Given the description of an element on the screen output the (x, y) to click on. 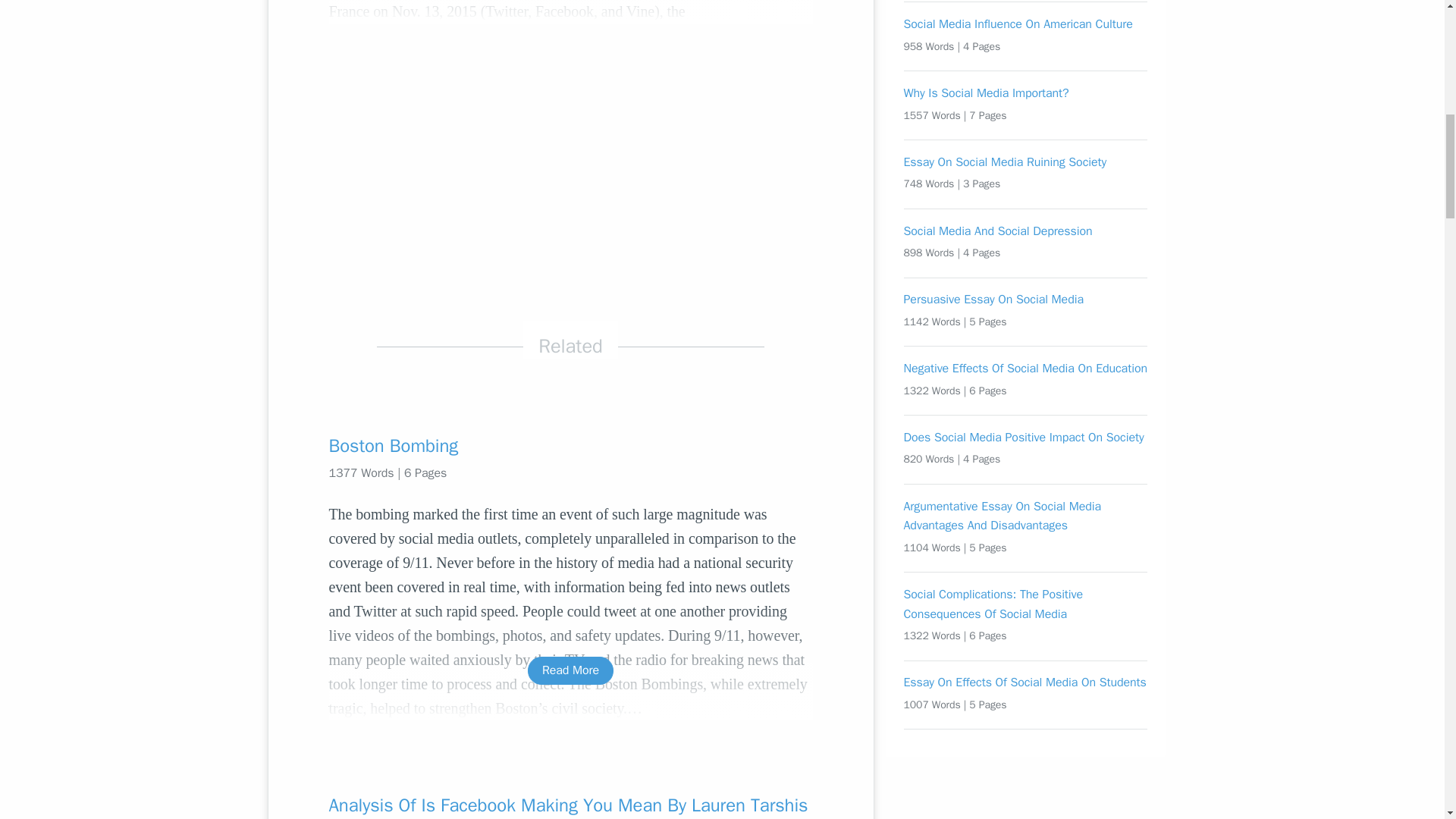
Analysis Of Is Facebook Making You Mean By Lauren Tarshis (570, 805)
Read More (569, 670)
Boston Bombing (570, 445)
